Given the description of an element on the screen output the (x, y) to click on. 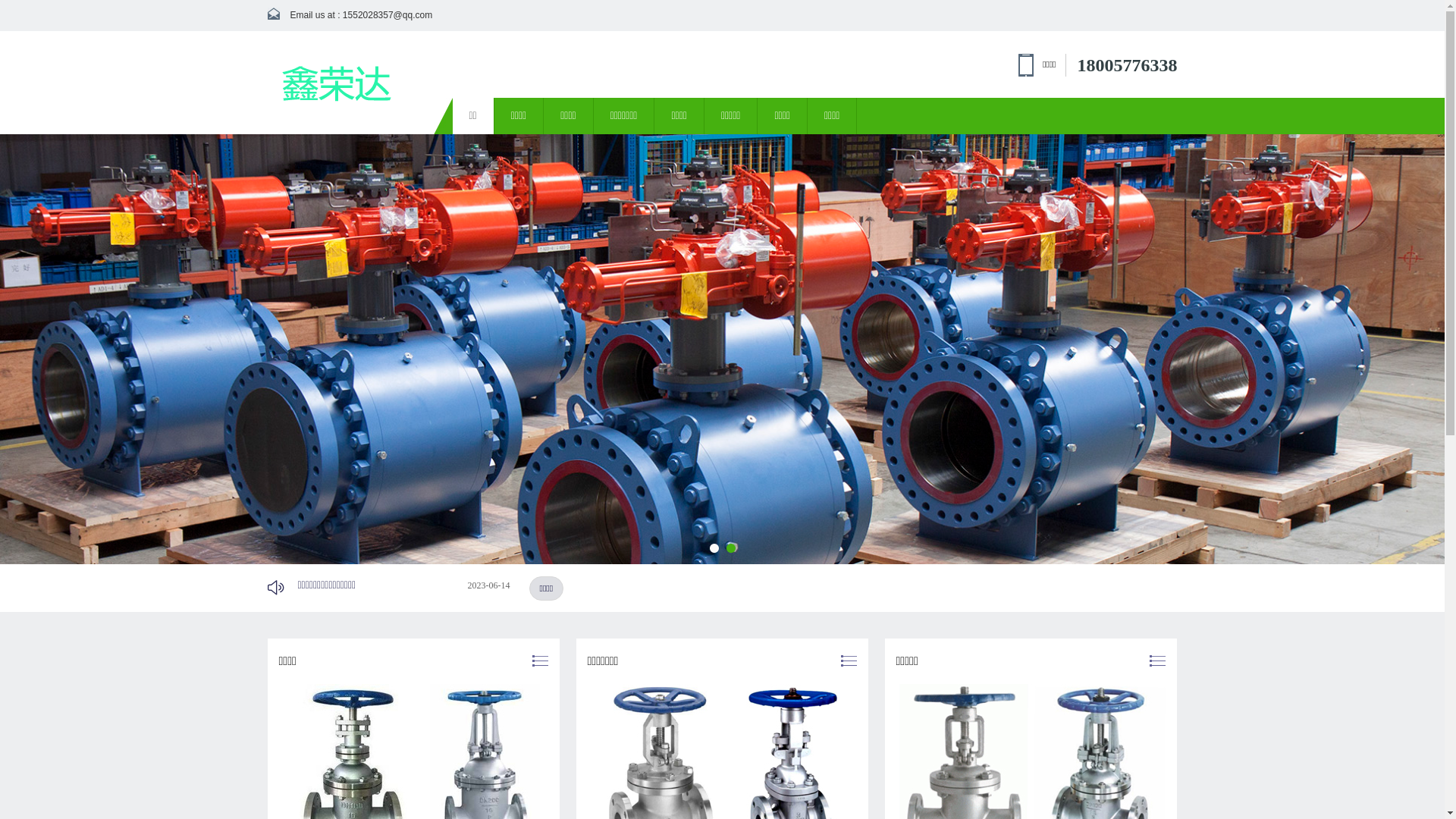
1 Element type: text (713, 547)
2 Element type: text (730, 547)
